Given the description of an element on the screen output the (x, y) to click on. 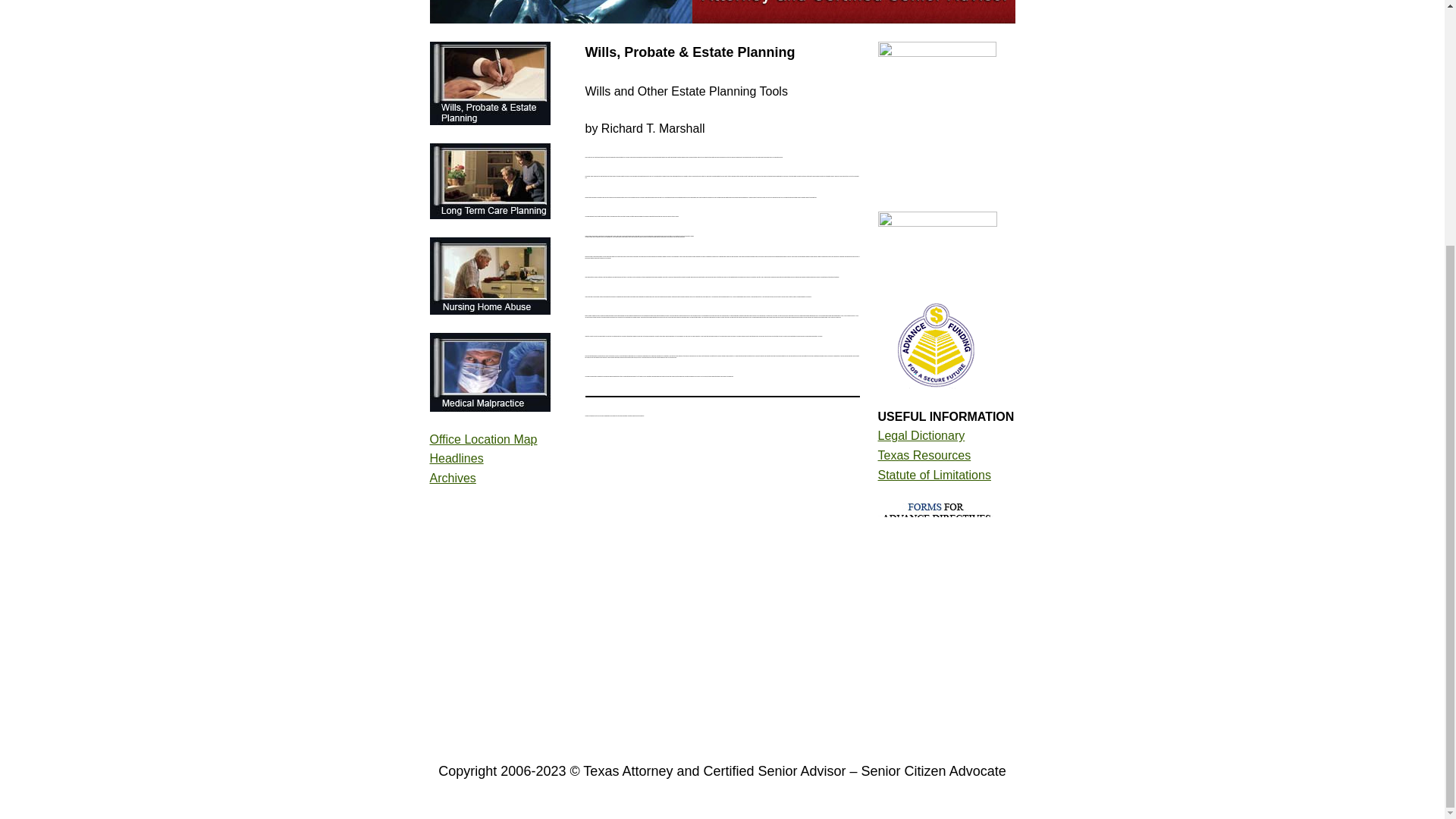
Legal Dictionary (921, 435)
Office Location Map (483, 439)
Texas Resources (924, 454)
Headlines (456, 458)
Statute of Limitations (934, 474)
Archives (452, 477)
